Given the description of an element on the screen output the (x, y) to click on. 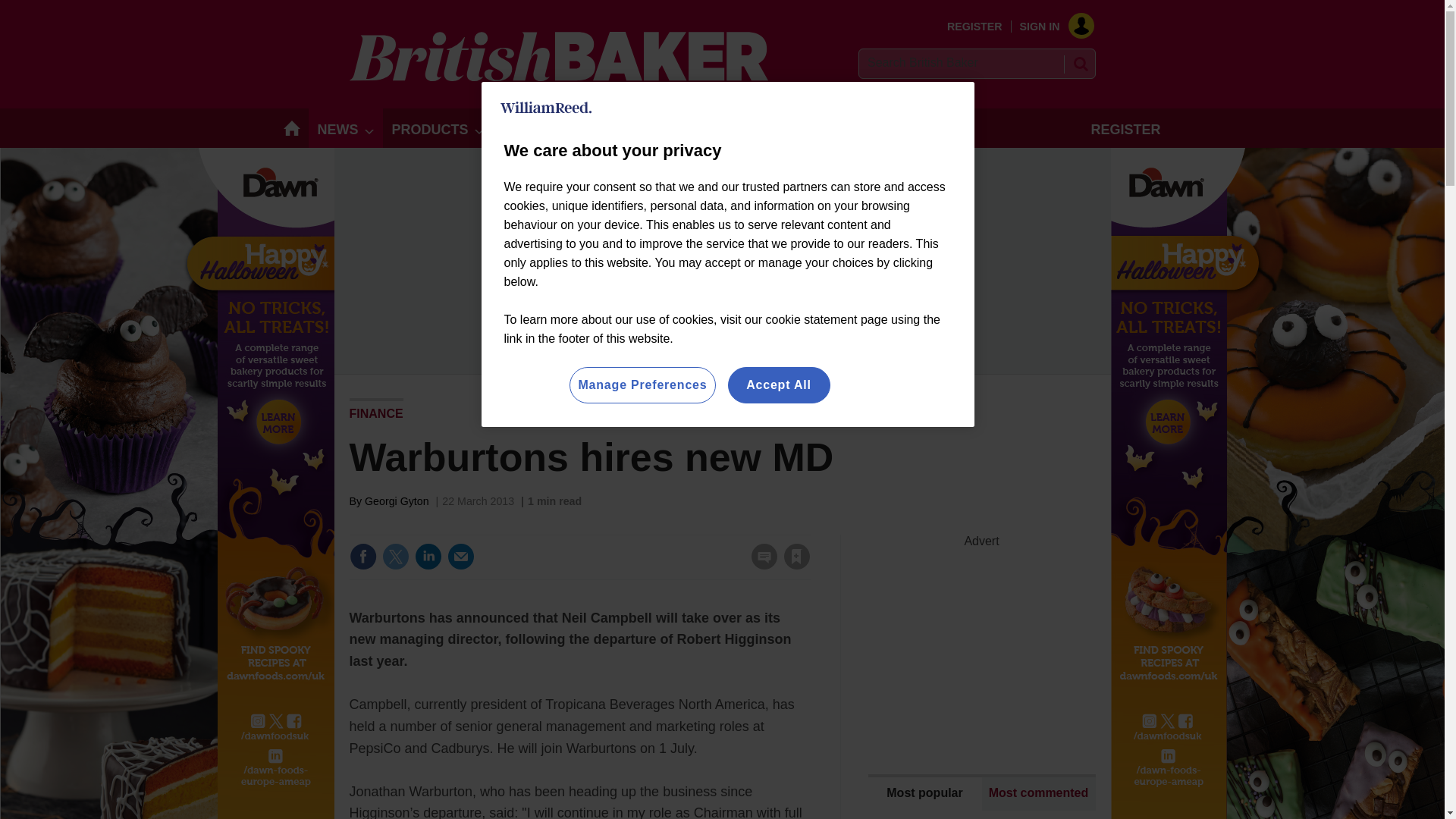
REGISTER (975, 26)
3rd party ad content (980, 642)
Share this on Twitter (395, 556)
Share this on Facebook (362, 556)
No comments (759, 565)
Email this article (460, 556)
Share this on Linked in (427, 556)
William Reed (545, 107)
Site name (558, 76)
SIGN IN (1051, 26)
